Given the description of an element on the screen output the (x, y) to click on. 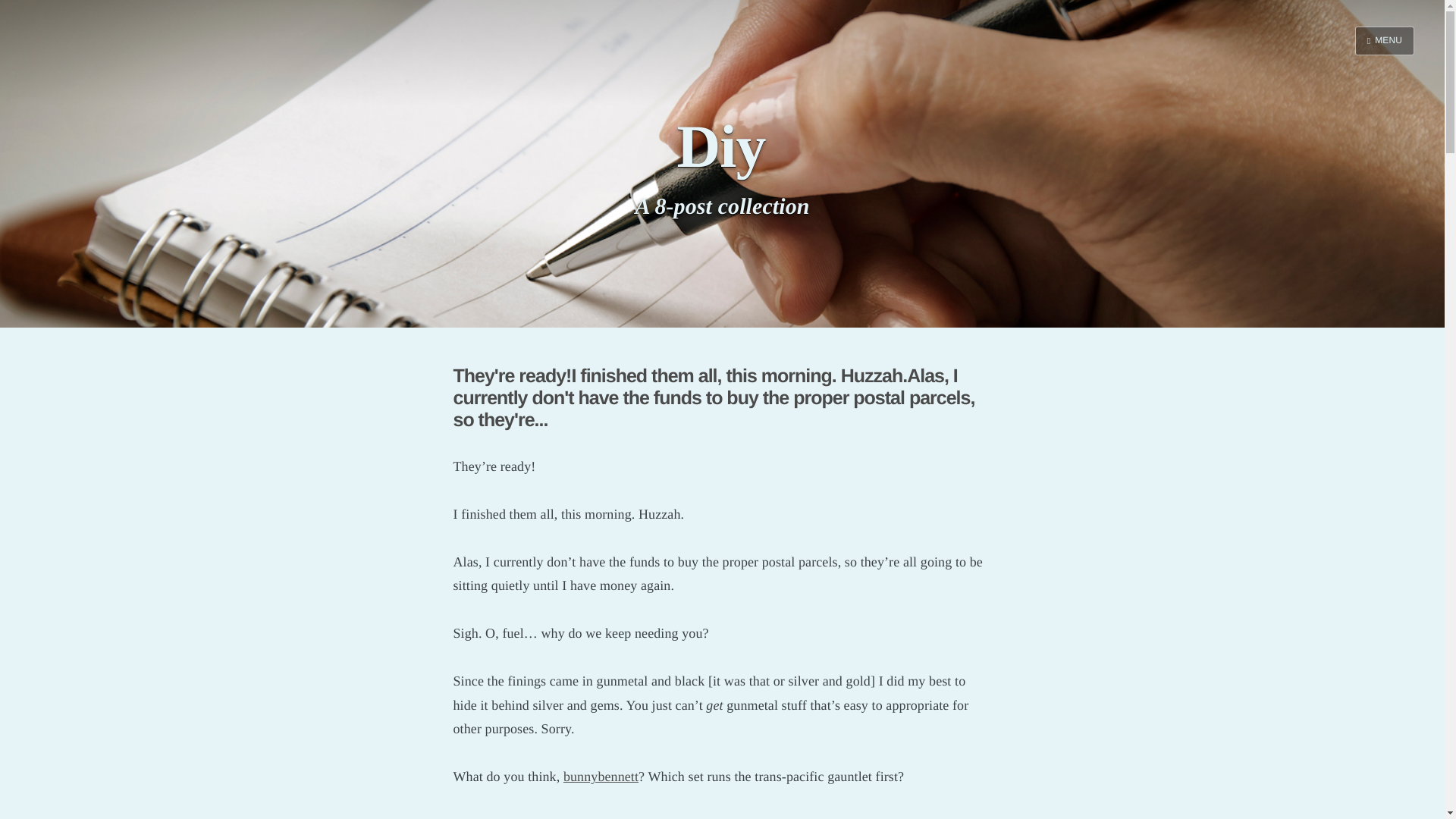
MENU (1384, 40)
bunnybennett (601, 776)
